Given the description of an element on the screen output the (x, y) to click on. 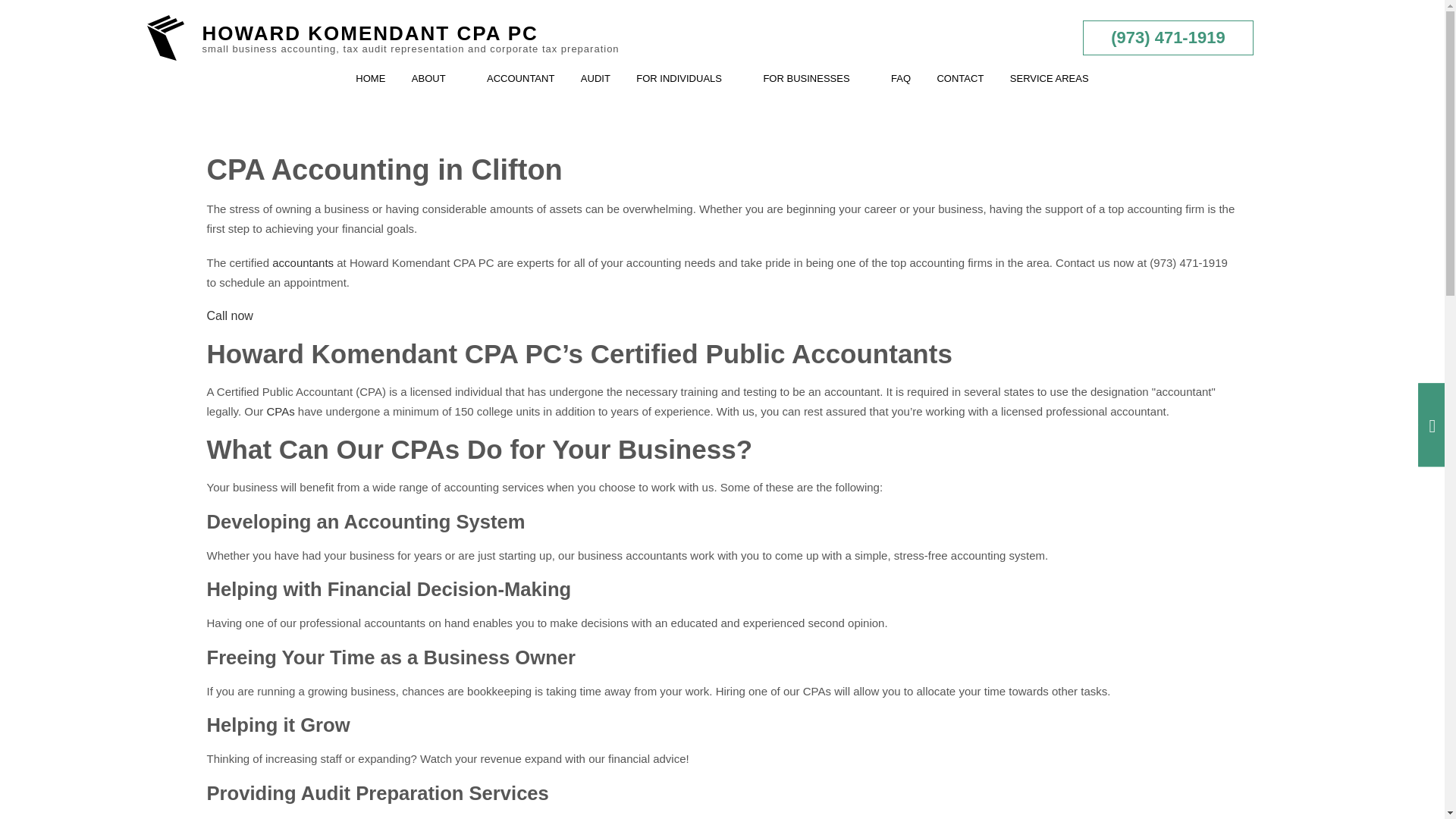
General Accountant (302, 262)
CPA Accounting (280, 410)
